Given the description of an element on the screen output the (x, y) to click on. 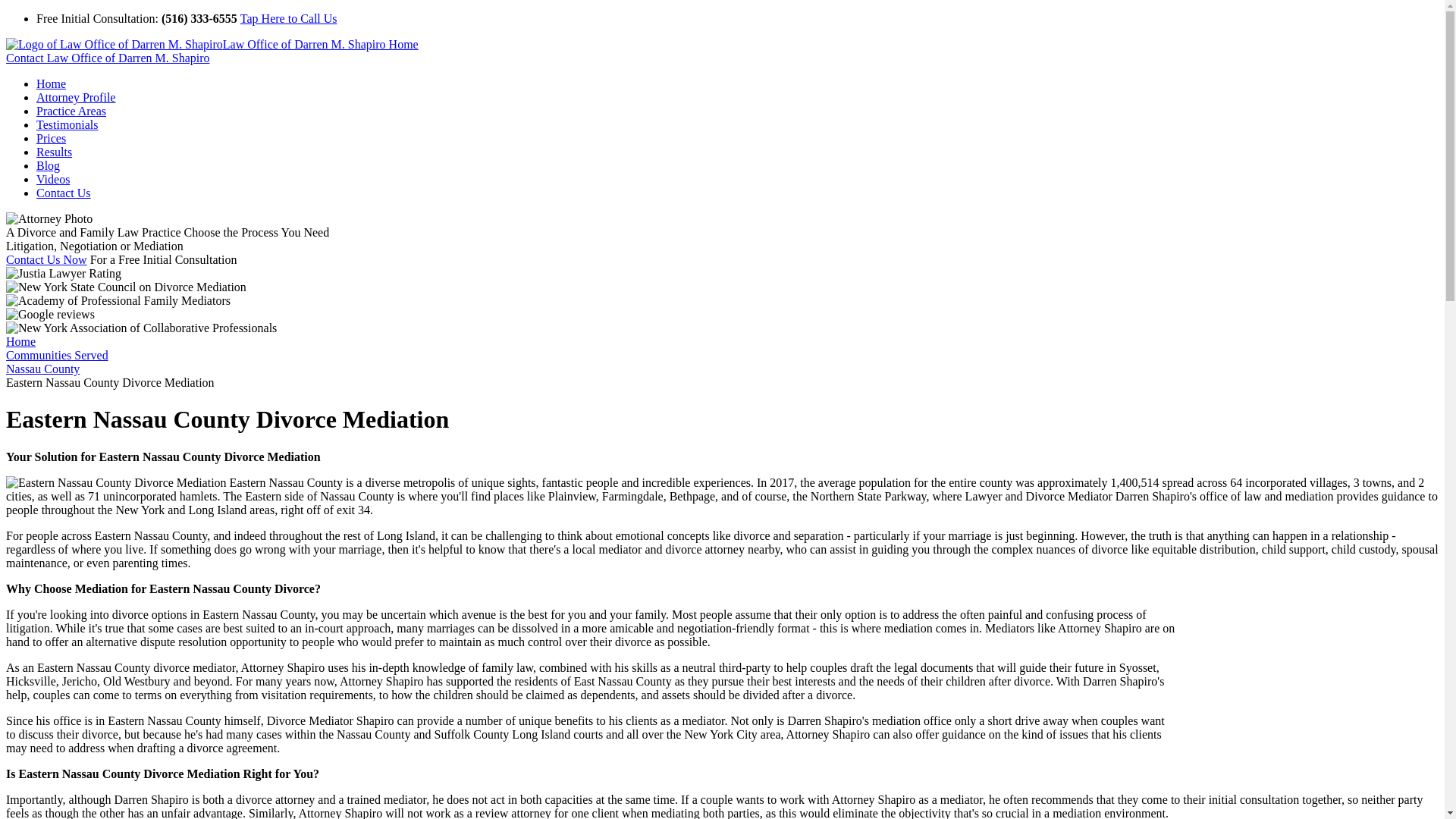
Prices (50, 137)
Law Office of Darren M. Shapiro Home (212, 43)
Videos (52, 178)
Communities Served (56, 354)
Nassau County (42, 368)
Blog (47, 164)
Tap Here to Call Us (288, 18)
Home (50, 83)
Contact Law Office of Darren M. Shapiro (107, 57)
Home (19, 341)
